Given the description of an element on the screen output the (x, y) to click on. 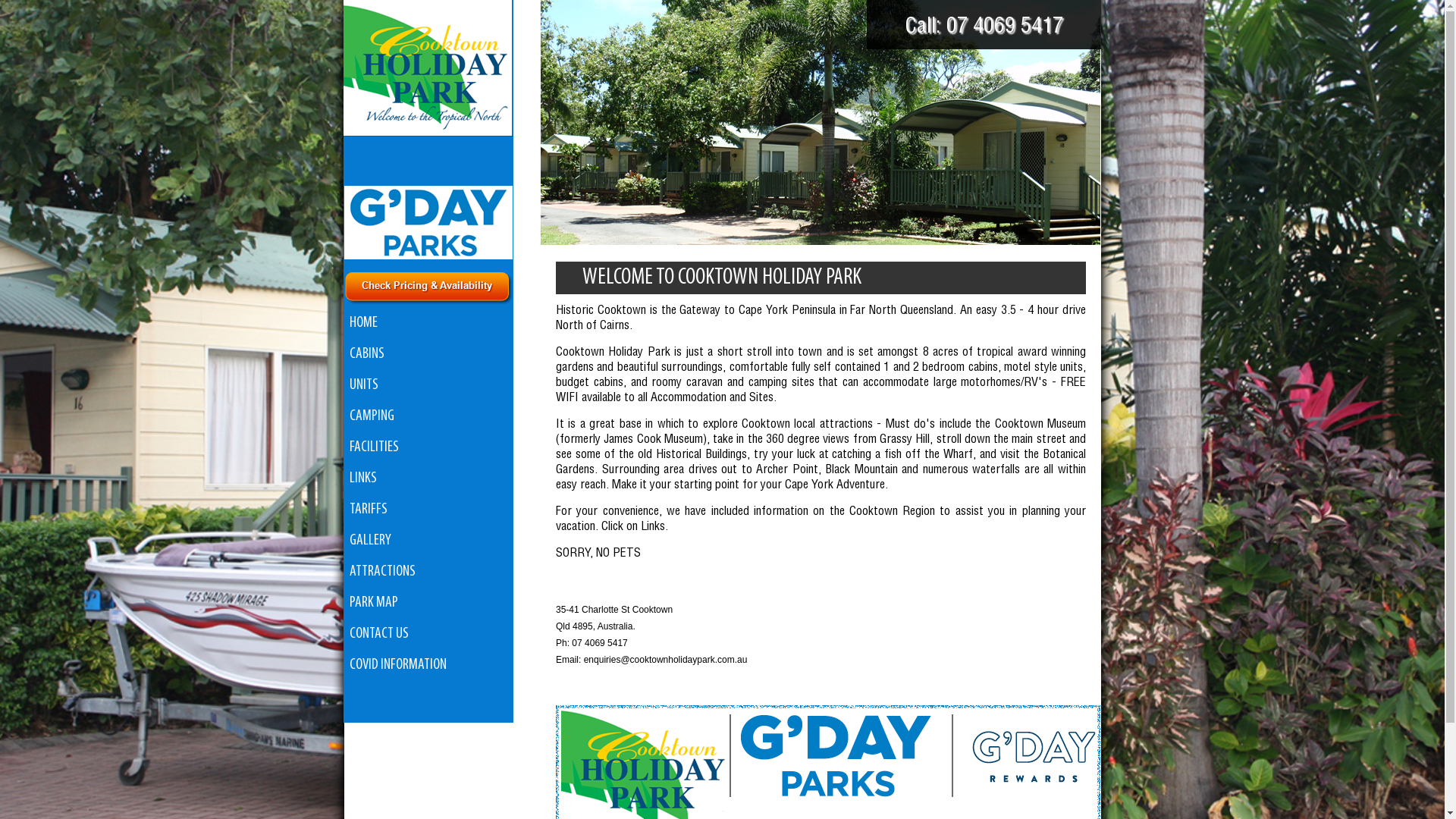
HOME Element type: text (428, 323)
CONTACT US Element type: text (428, 634)
LINKS Element type: text (428, 478)
PARK MAP Element type: text (428, 603)
GALLERY Element type: text (428, 540)
UNITS Element type: text (428, 385)
ATTRACTIONS Element type: text (428, 571)
CAMPING Element type: text (428, 416)
TARIFFS Element type: text (428, 509)
FACILITIES Element type: text (428, 447)
enquiries@cooktownholidaypark.com.au Element type: text (665, 659)
COVID INFORMATION Element type: text (428, 665)
CABINS Element type: text (428, 354)
